Given the description of an element on the screen output the (x, y) to click on. 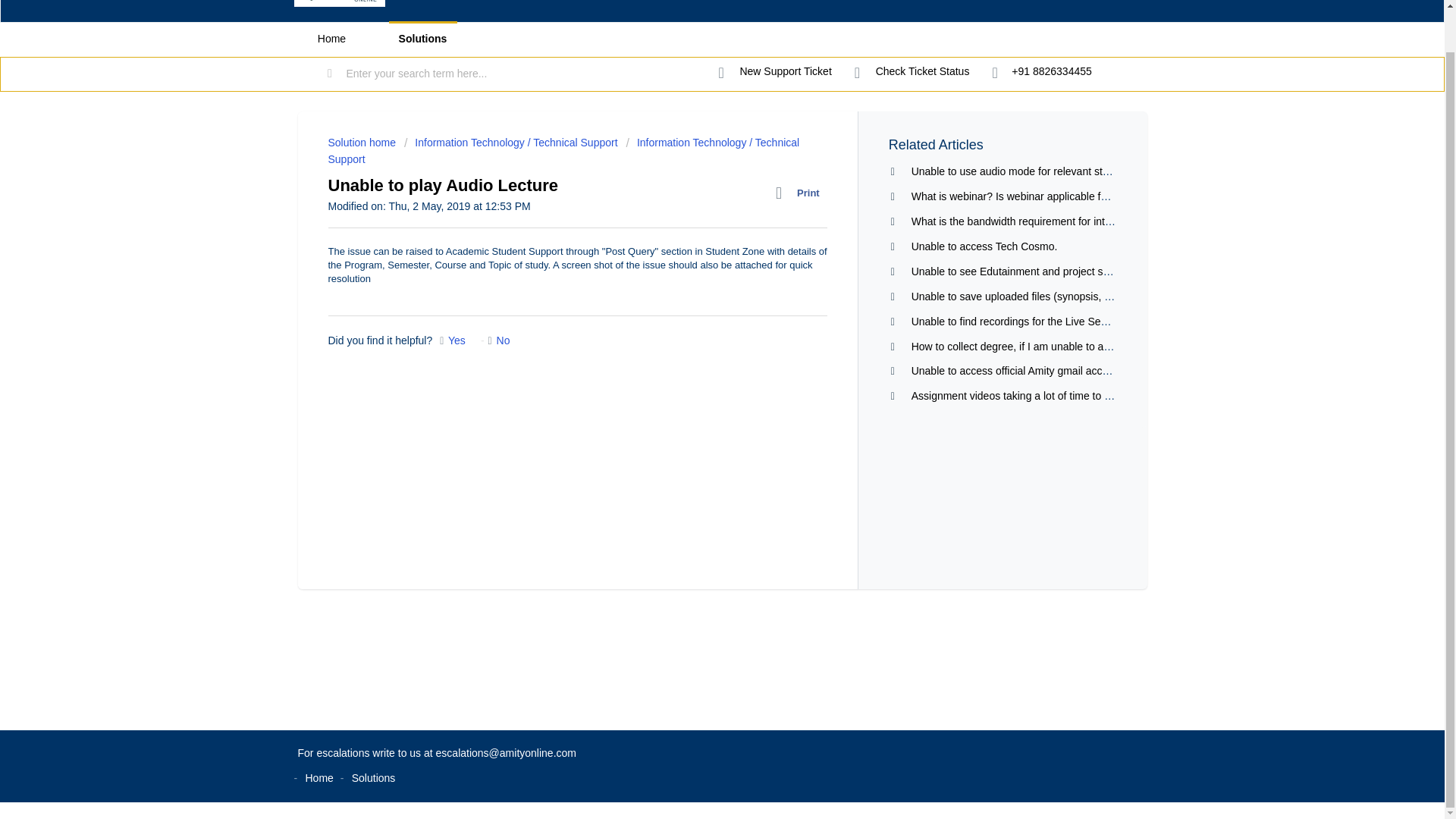
Check ticket status (911, 71)
Print (801, 193)
New Support Ticket (775, 71)
Check Ticket Status (911, 71)
Home (318, 777)
Home (331, 38)
Solutions (422, 38)
